Given the description of an element on the screen output the (x, y) to click on. 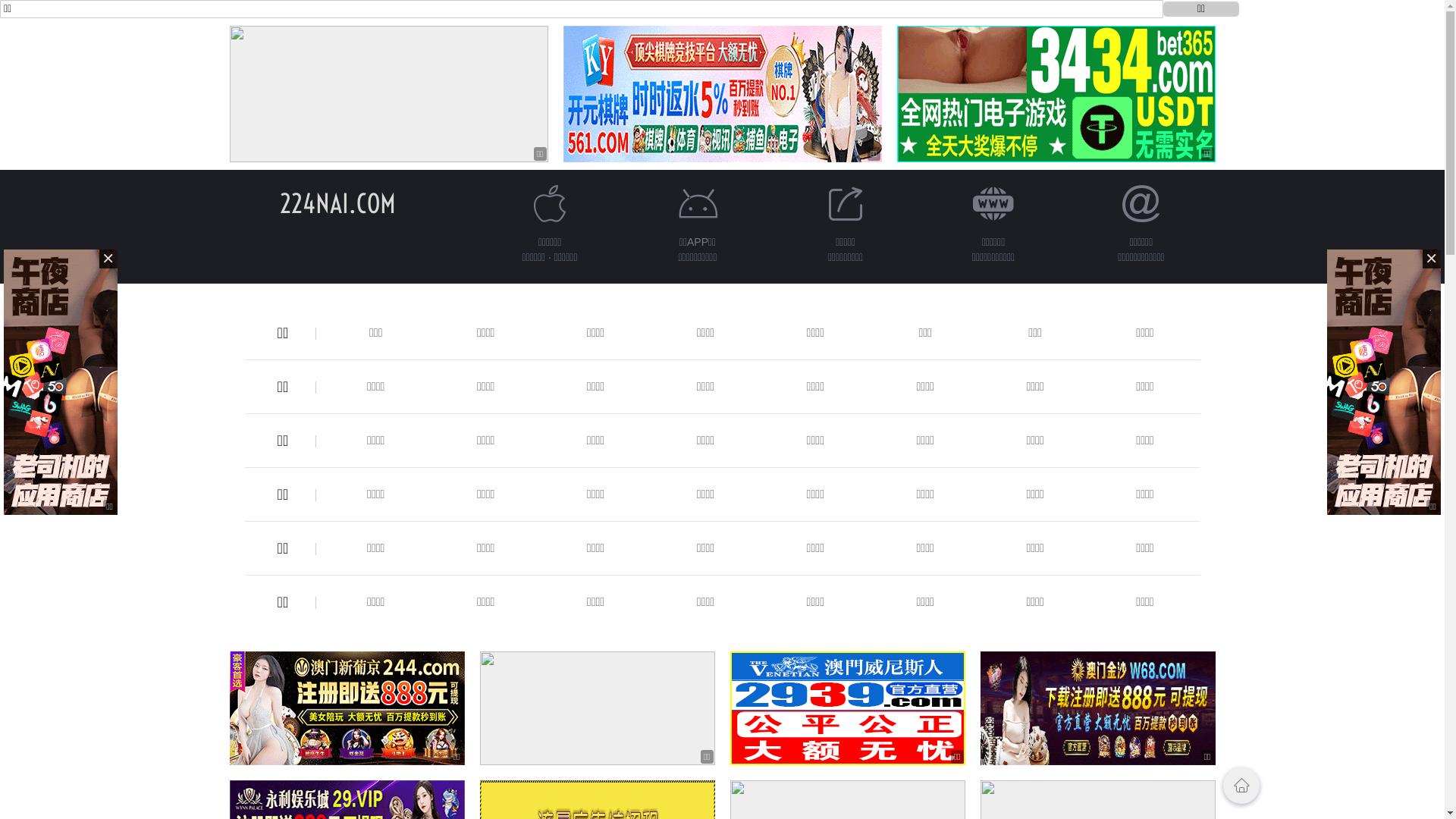
224NAI.COM Element type: text (337, 203)
